Given the description of an element on the screen output the (x, y) to click on. 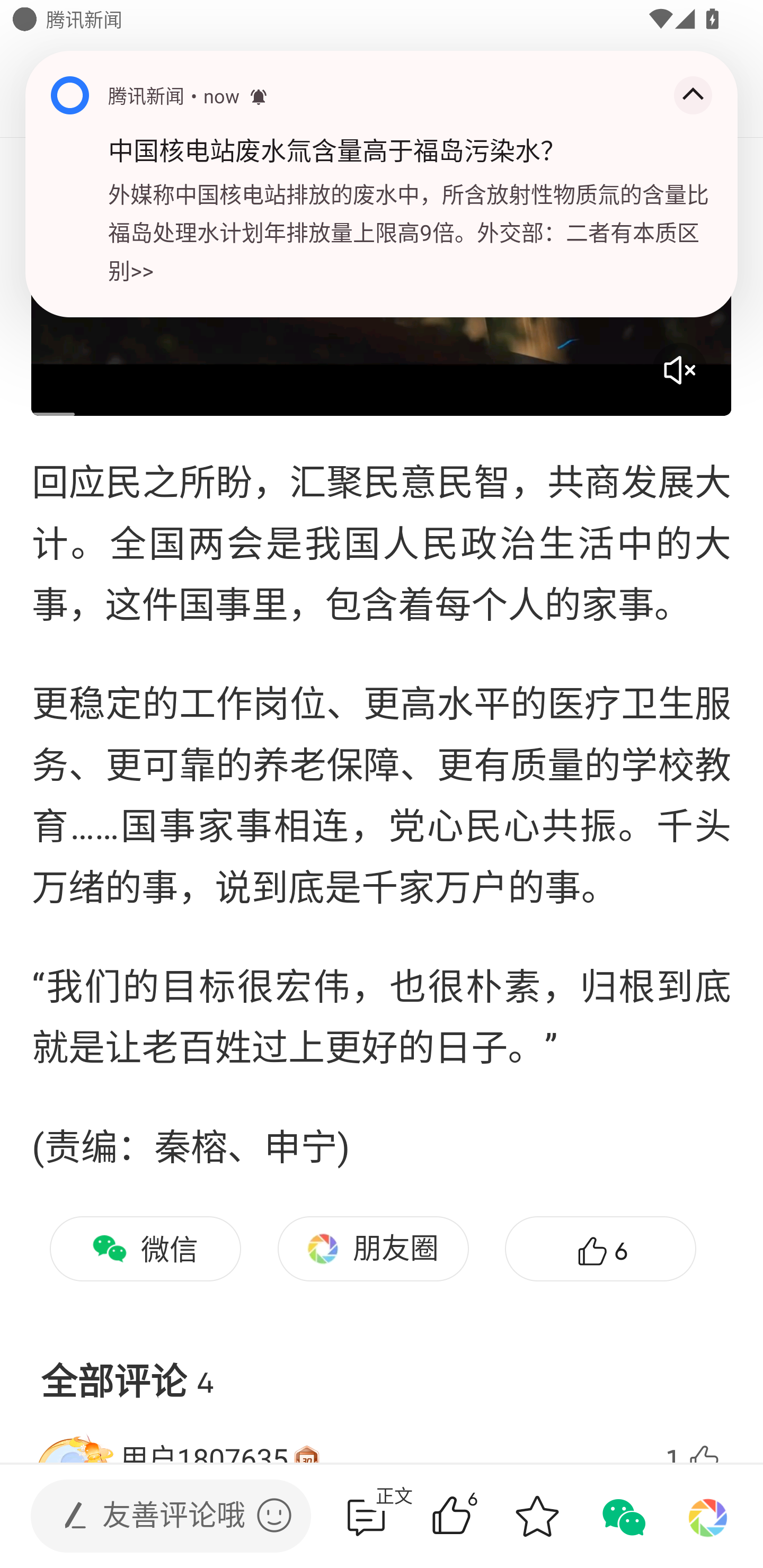
音量开关 (679, 369)
微信 分享到微信 (145, 1248)
朋友圈 分享到朋友圈 (373, 1248)
6赞 (600, 1248)
全部评论 4 (381, 1366)
发表评论  友善评论哦 发表评论  (155, 1516)
4评论  正文 正文 (365, 1516)
6赞 (476, 1516)
收藏  (536, 1516)
分享到微信  (622, 1516)
分享到朋友圈 (707, 1516)
 (274, 1515)
